Given the description of an element on the screen output the (x, y) to click on. 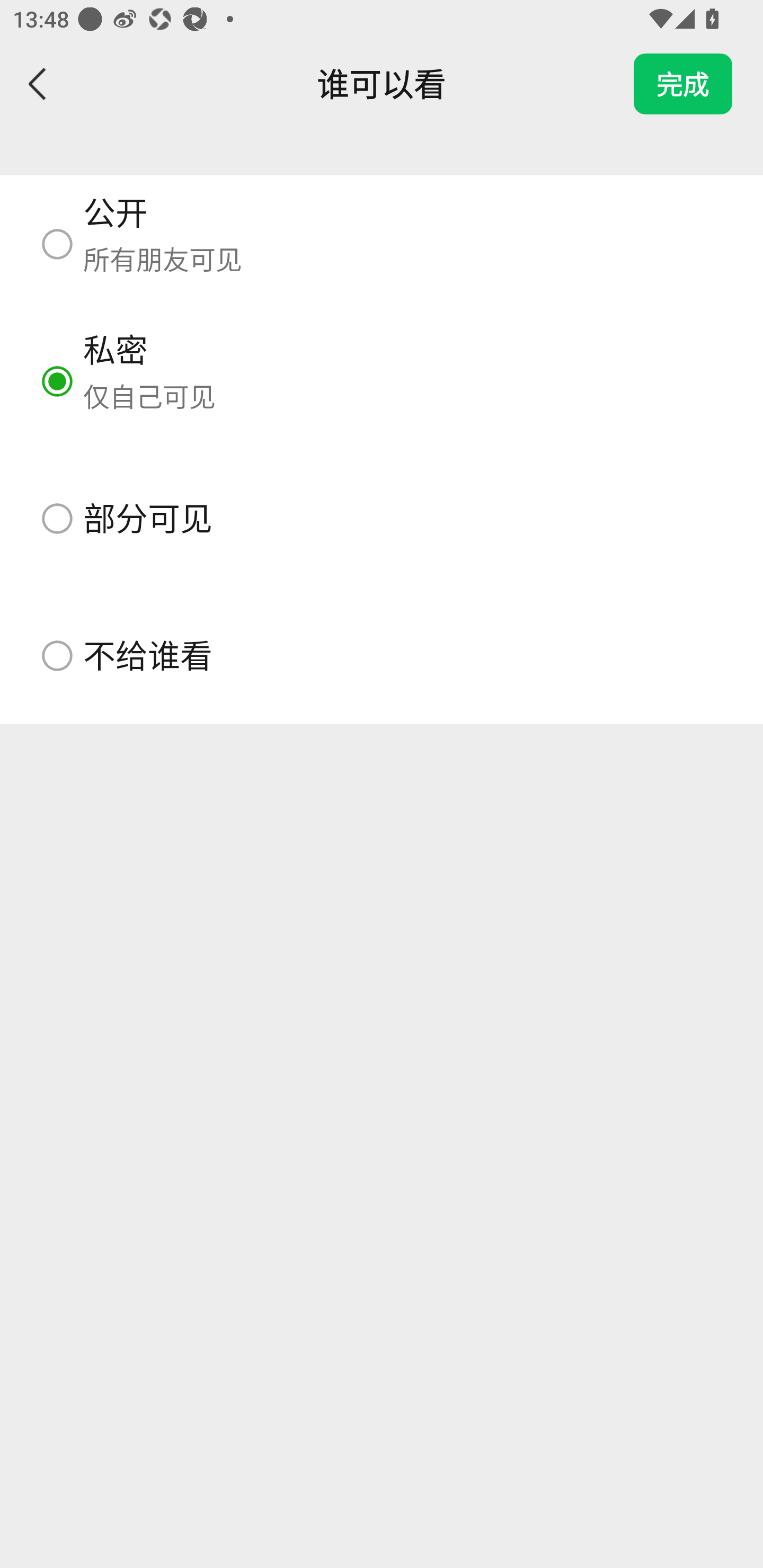
返回 (38, 83)
完成 (683, 83)
已选中 公开 所有朋友可见 (381, 243)
已选中 私密 仅自己可见 (381, 381)
部分可见 (381, 518)
不给谁看 (381, 655)
